Given the description of an element on the screen output the (x, y) to click on. 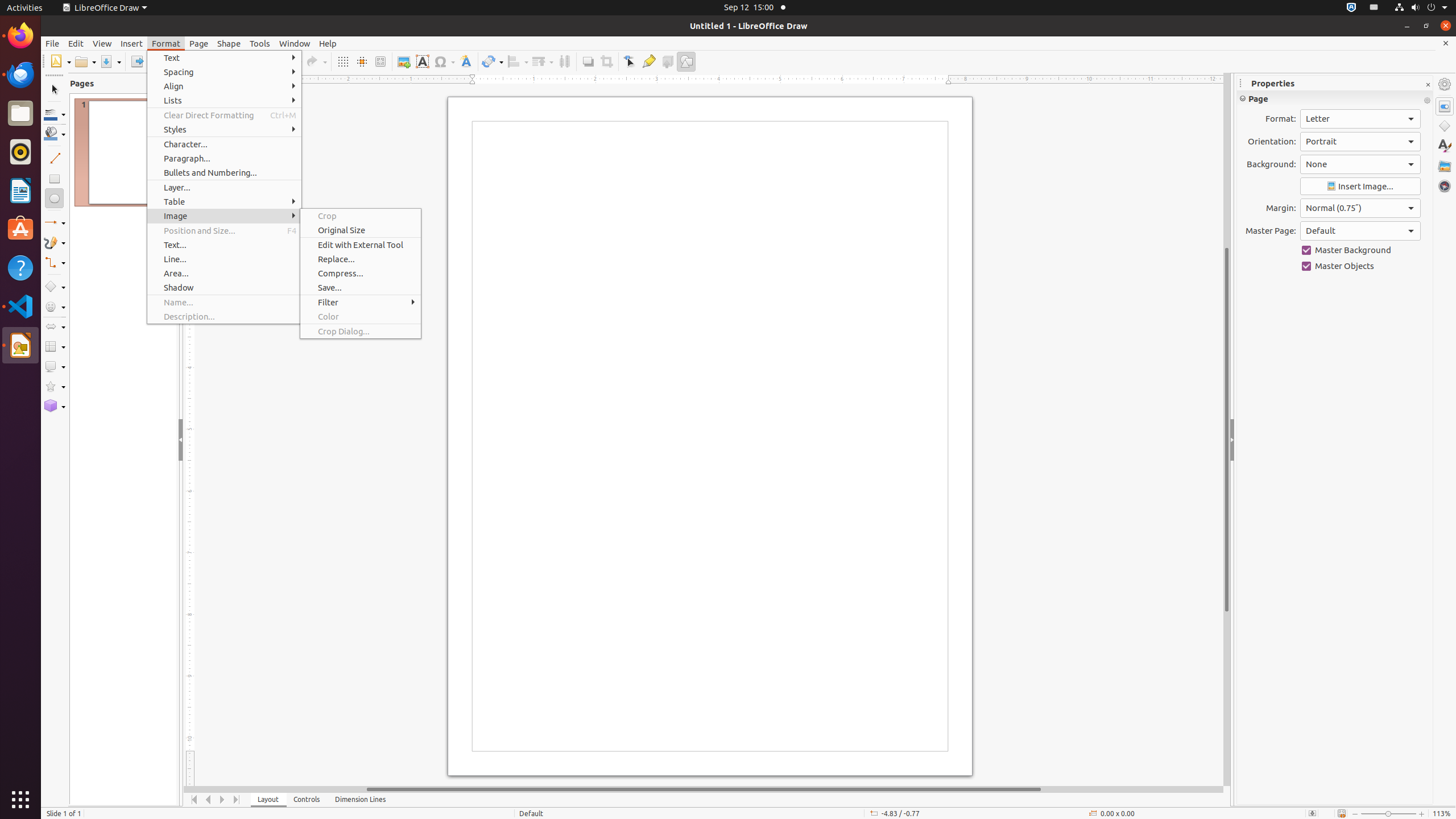
Image Element type: push-button (403, 61)
Insert Element type: menu (131, 43)
Save Element type: push-button (109, 61)
Master Objects Element type: check-box (1360, 265)
Crop Dialog... Element type: menu-item (360, 331)
